Given the description of an element on the screen output the (x, y) to click on. 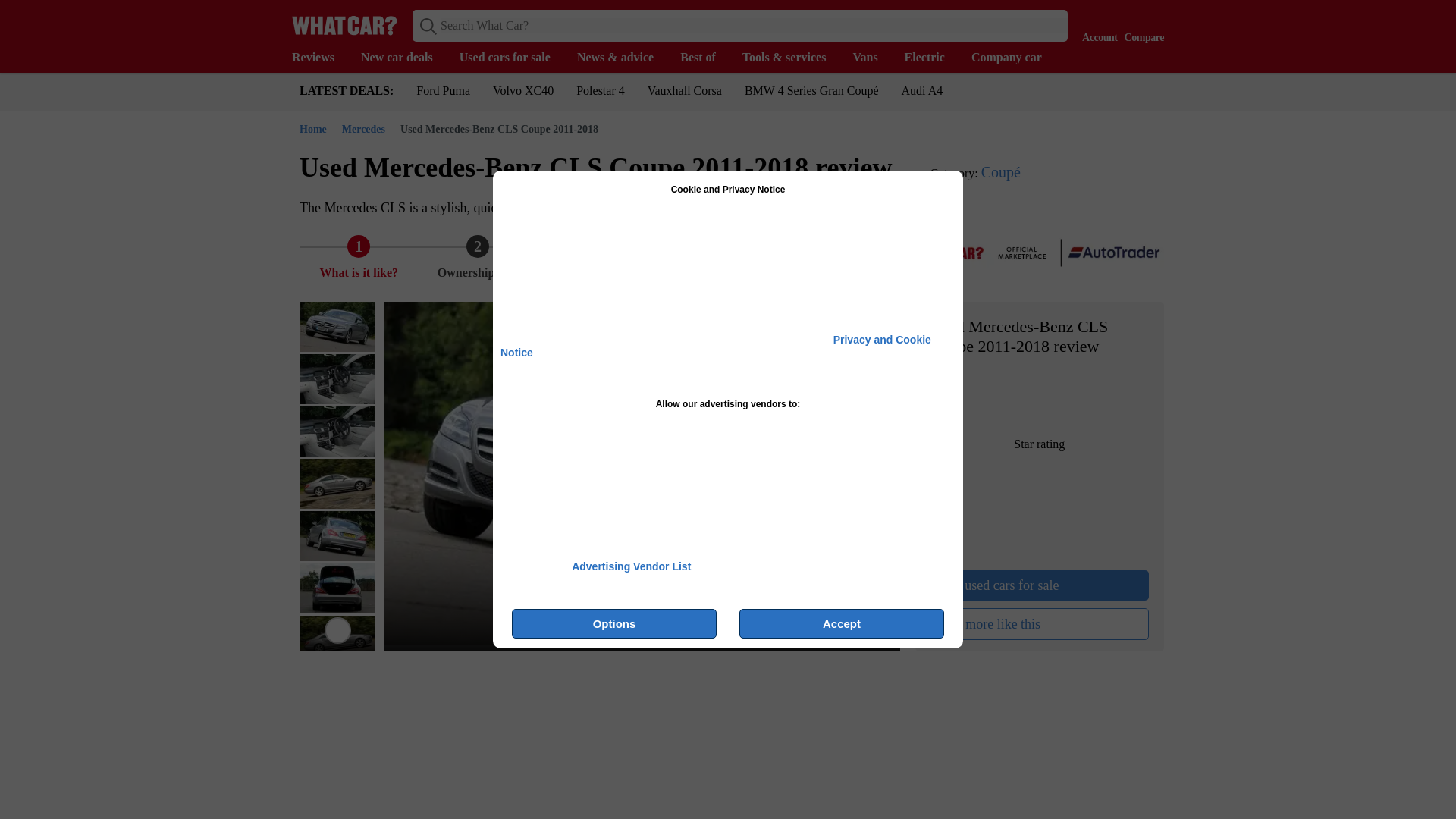
Compare (1140, 24)
WhatCar? logo (344, 25)
Account (1095, 24)
New car deals (404, 57)
Reviews (320, 57)
Electric (931, 57)
Best of (704, 57)
Company car (1014, 57)
Used cars for sale (513, 57)
Vans (871, 57)
